Given the description of an element on the screen output the (x, y) to click on. 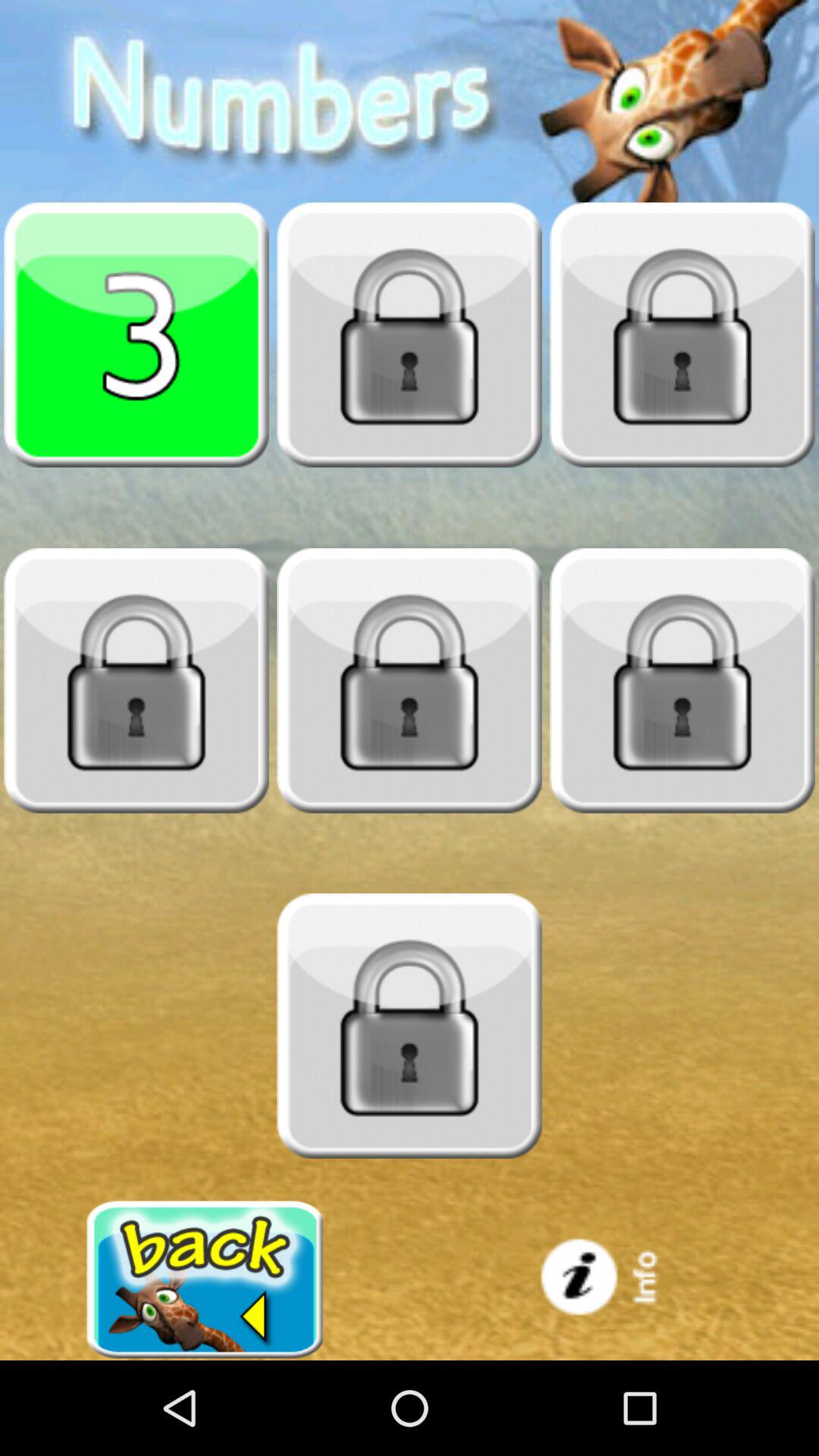
back button (204, 1279)
